Given the description of an element on the screen output the (x, y) to click on. 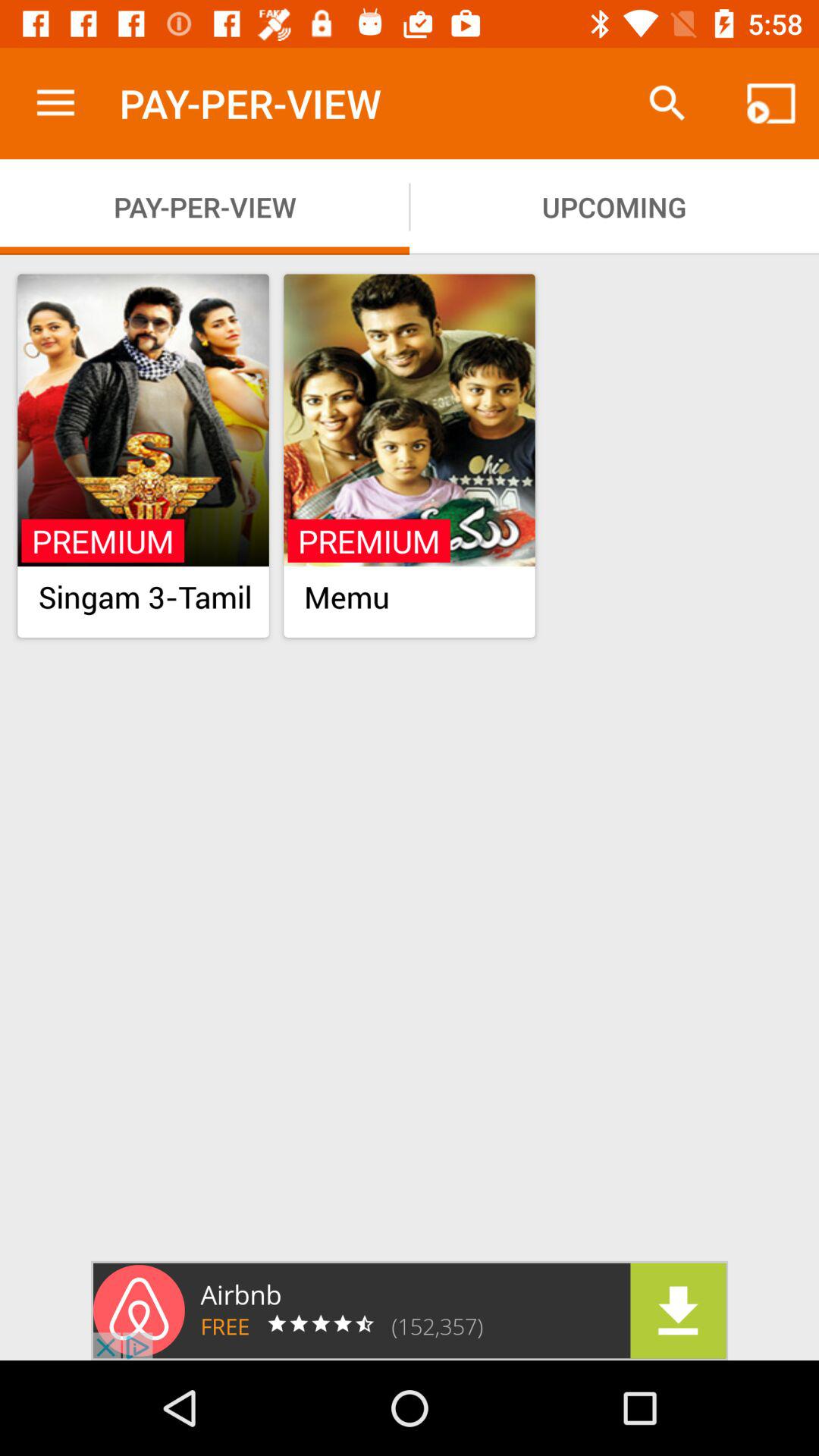
open advertisement (409, 1310)
